Given the description of an element on the screen output the (x, y) to click on. 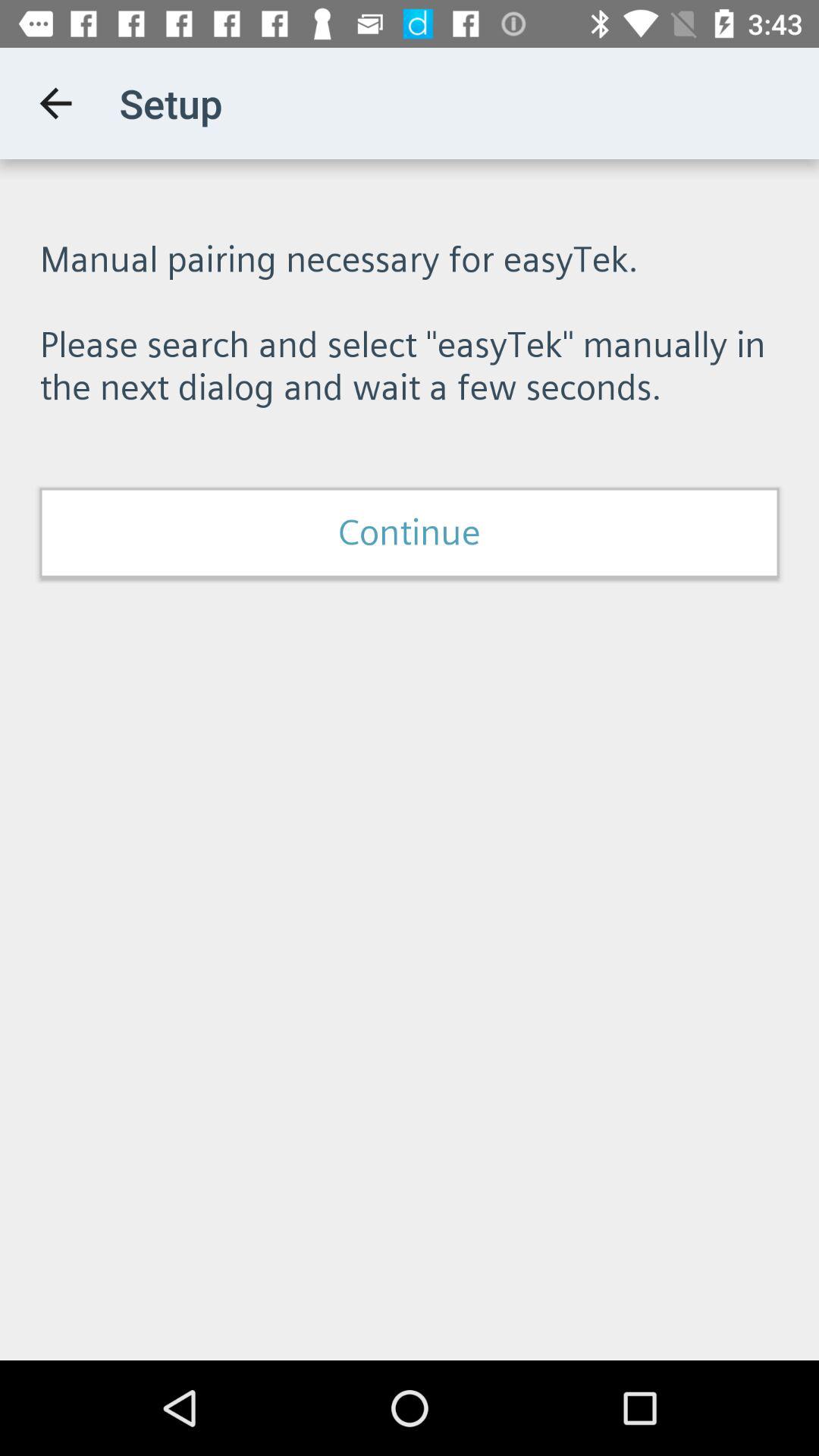
select the icon at the center (409, 532)
